Given the description of an element on the screen output the (x, y) to click on. 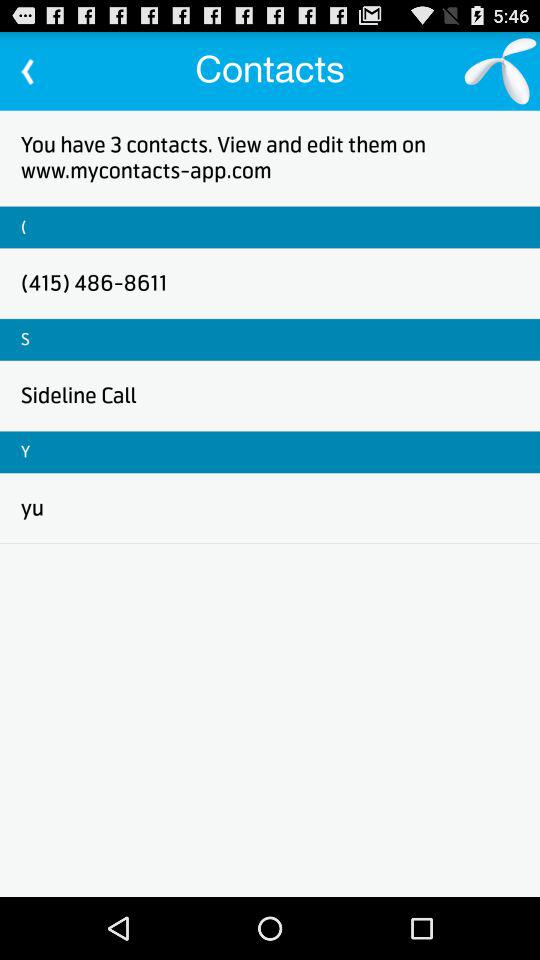
turn off the item above the sideline call item (25, 339)
